Given the description of an element on the screen output the (x, y) to click on. 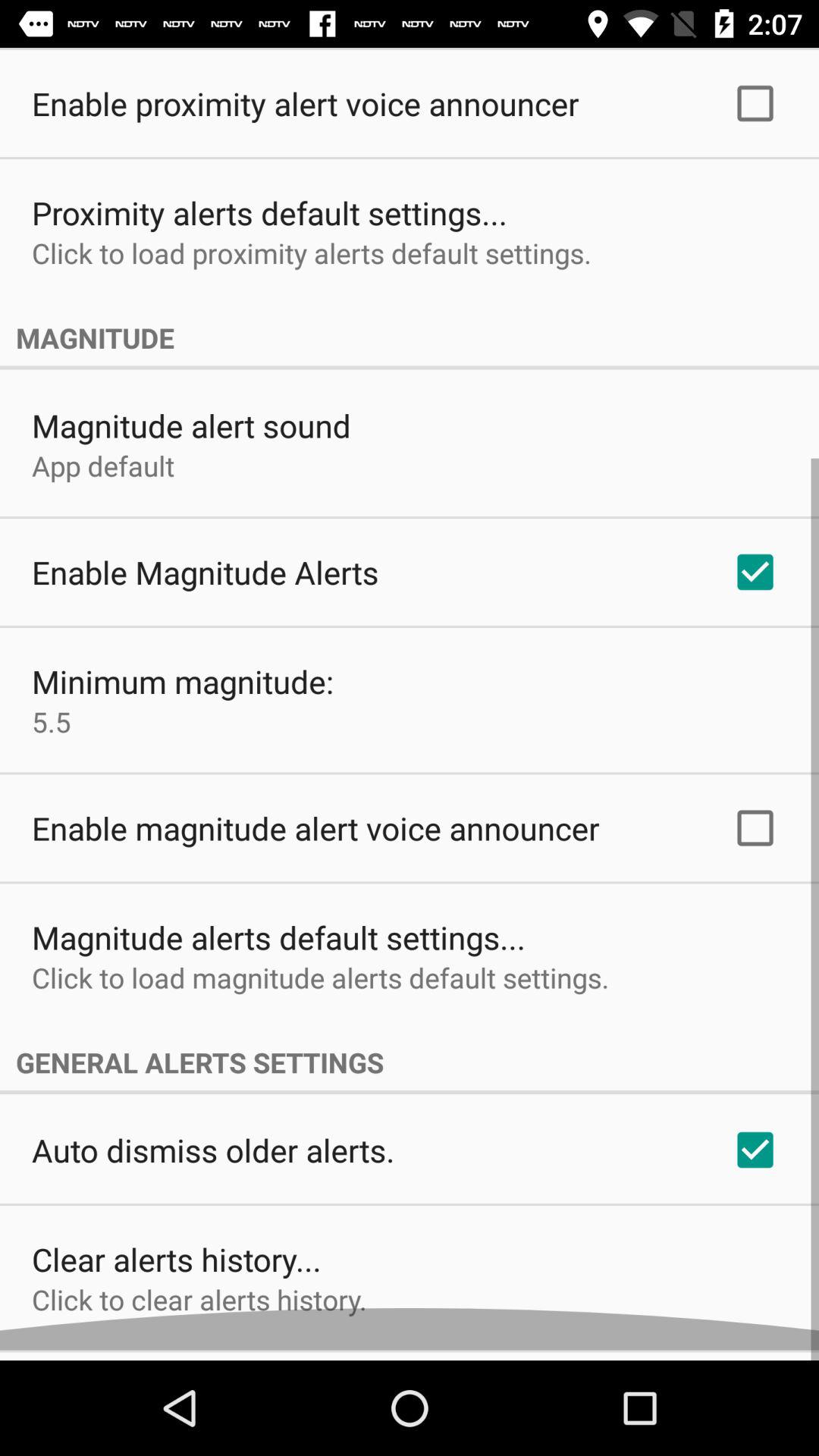
open item below general alerts settings icon (212, 1159)
